Given the description of an element on the screen output the (x, y) to click on. 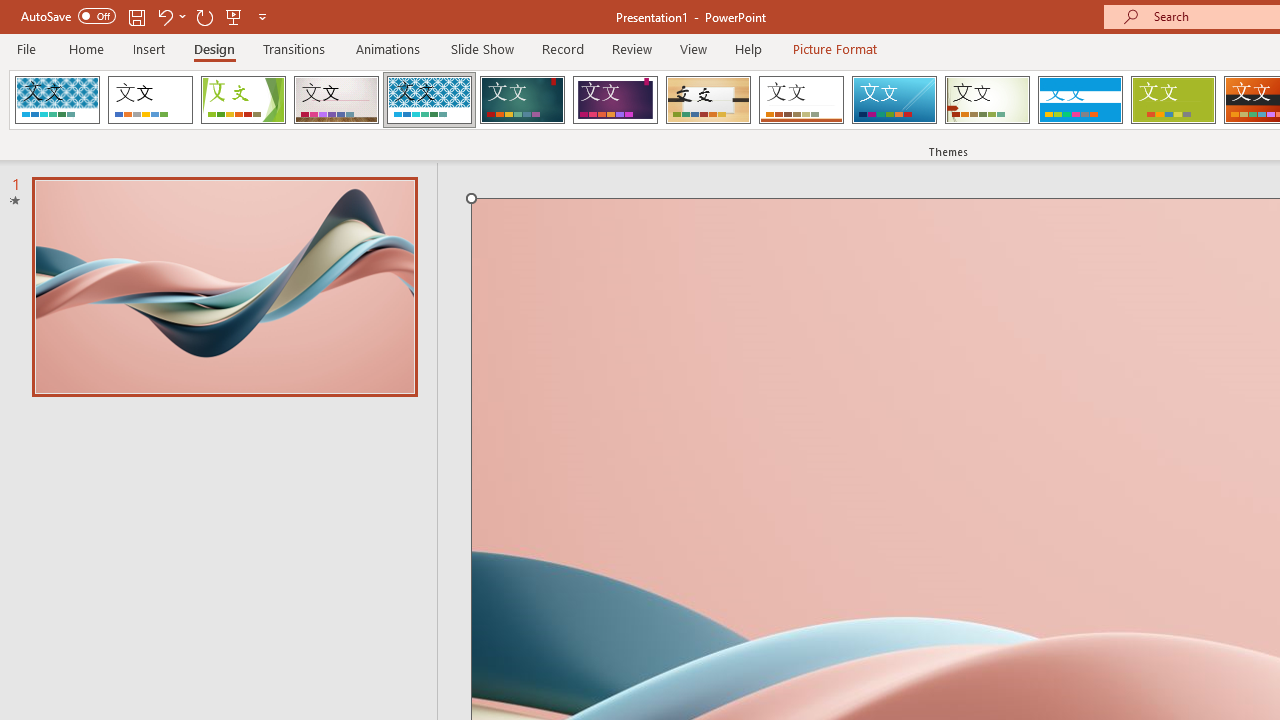
Ion (522, 100)
Banded (1080, 100)
Slide (224, 286)
Facet (243, 100)
Basis (1172, 100)
